Given the description of an element on the screen output the (x, y) to click on. 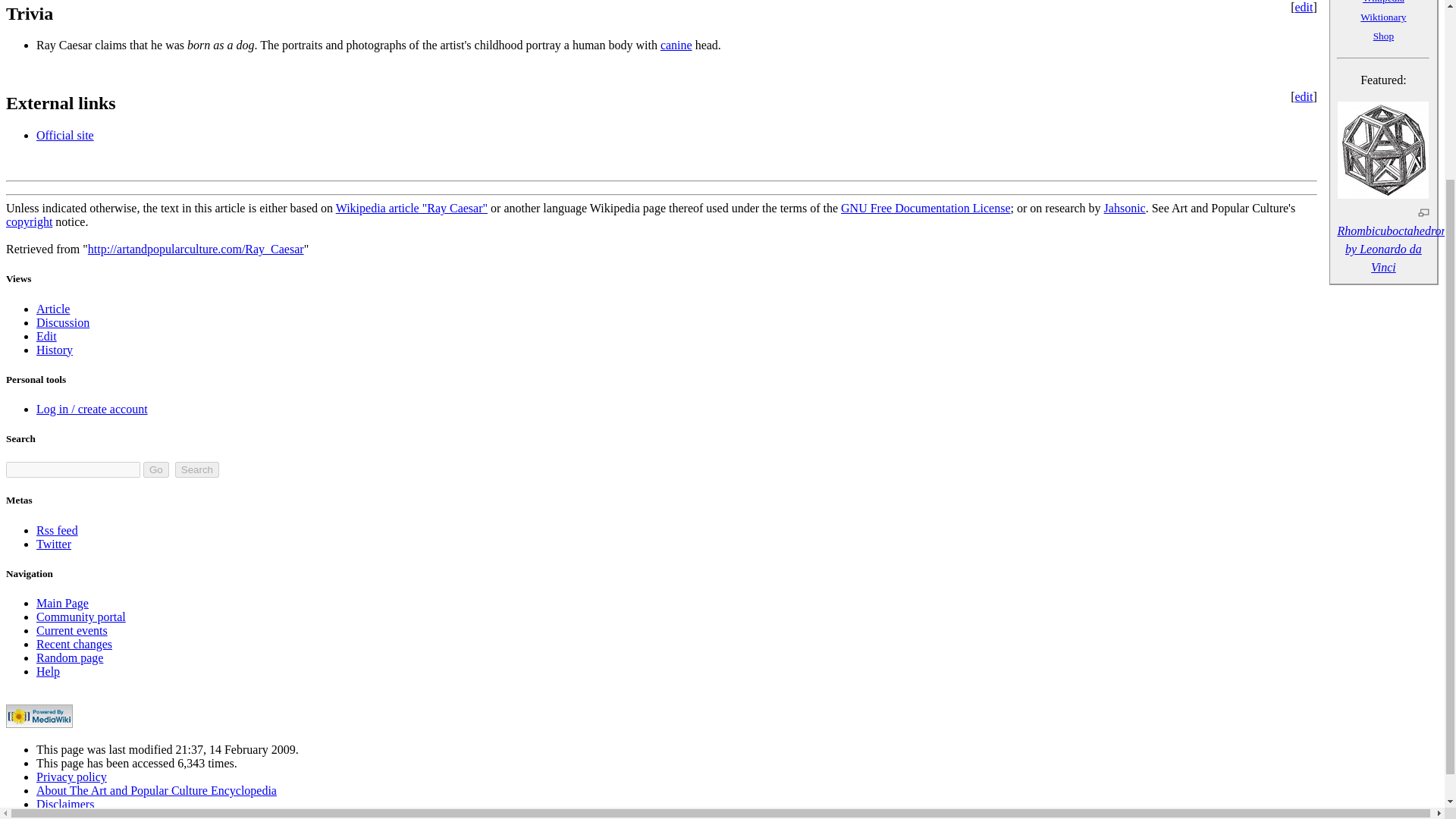
Go (155, 469)
Search (196, 469)
Official site (65, 134)
edit (1303, 96)
Search (196, 469)
Rhombicuboctahedron by Leonardo da Vinci  (1383, 194)
Go (155, 469)
GNU Free Documentation License (925, 207)
Wiktionary (1382, 16)
Wikipedia (1383, 2)
Wikipedia article "Ray Caesar" (411, 207)
Discussion (62, 322)
Edit (46, 336)
Jahsonic (1124, 207)
Shop (1383, 35)
